Given the description of an element on the screen output the (x, y) to click on. 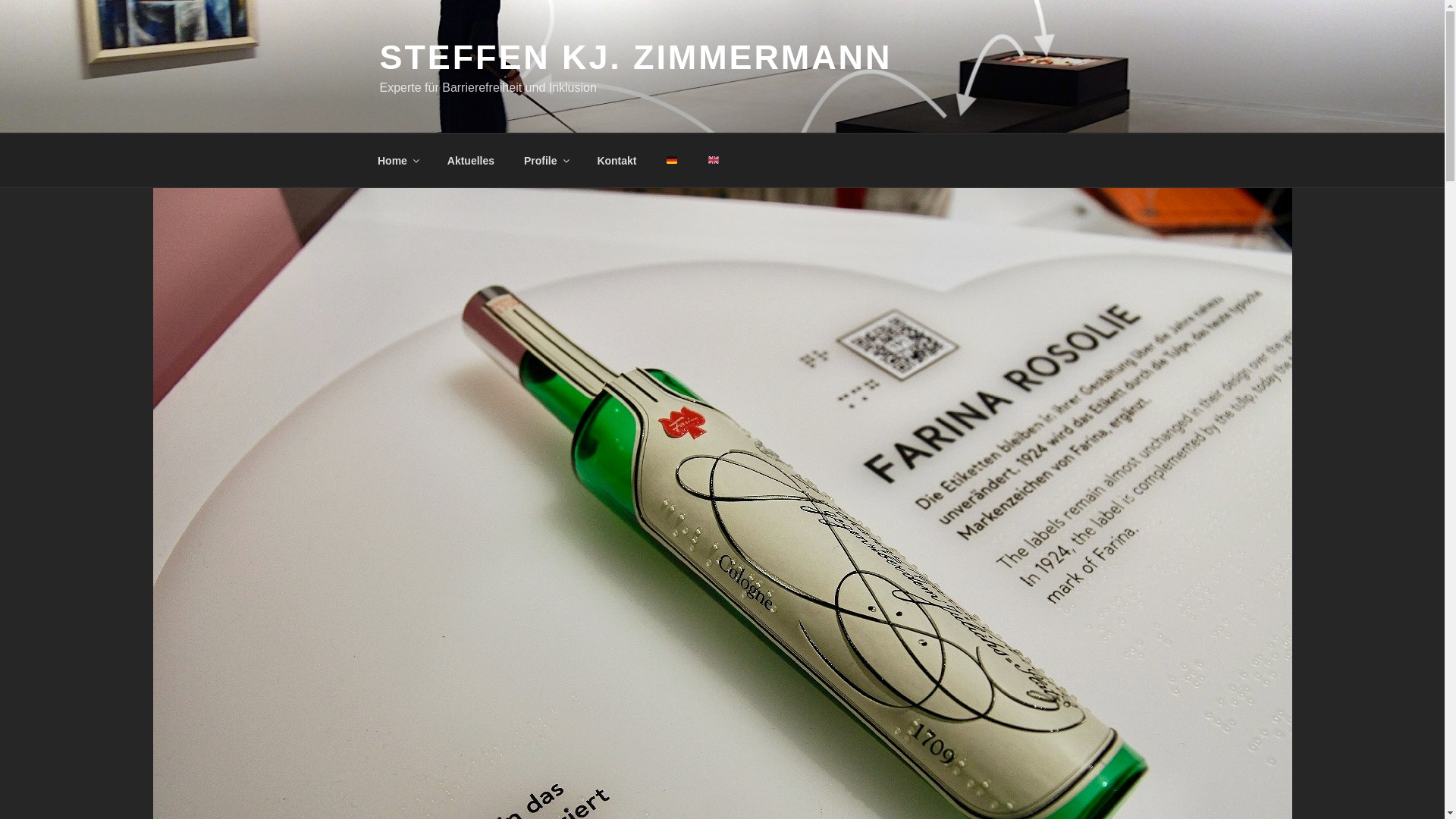
Aktuelles (469, 160)
Home (397, 160)
Kontakt (616, 160)
Profile (545, 160)
STEFFEN KJ. ZIMMERMANN (634, 56)
